Given the description of an element on the screen output the (x, y) to click on. 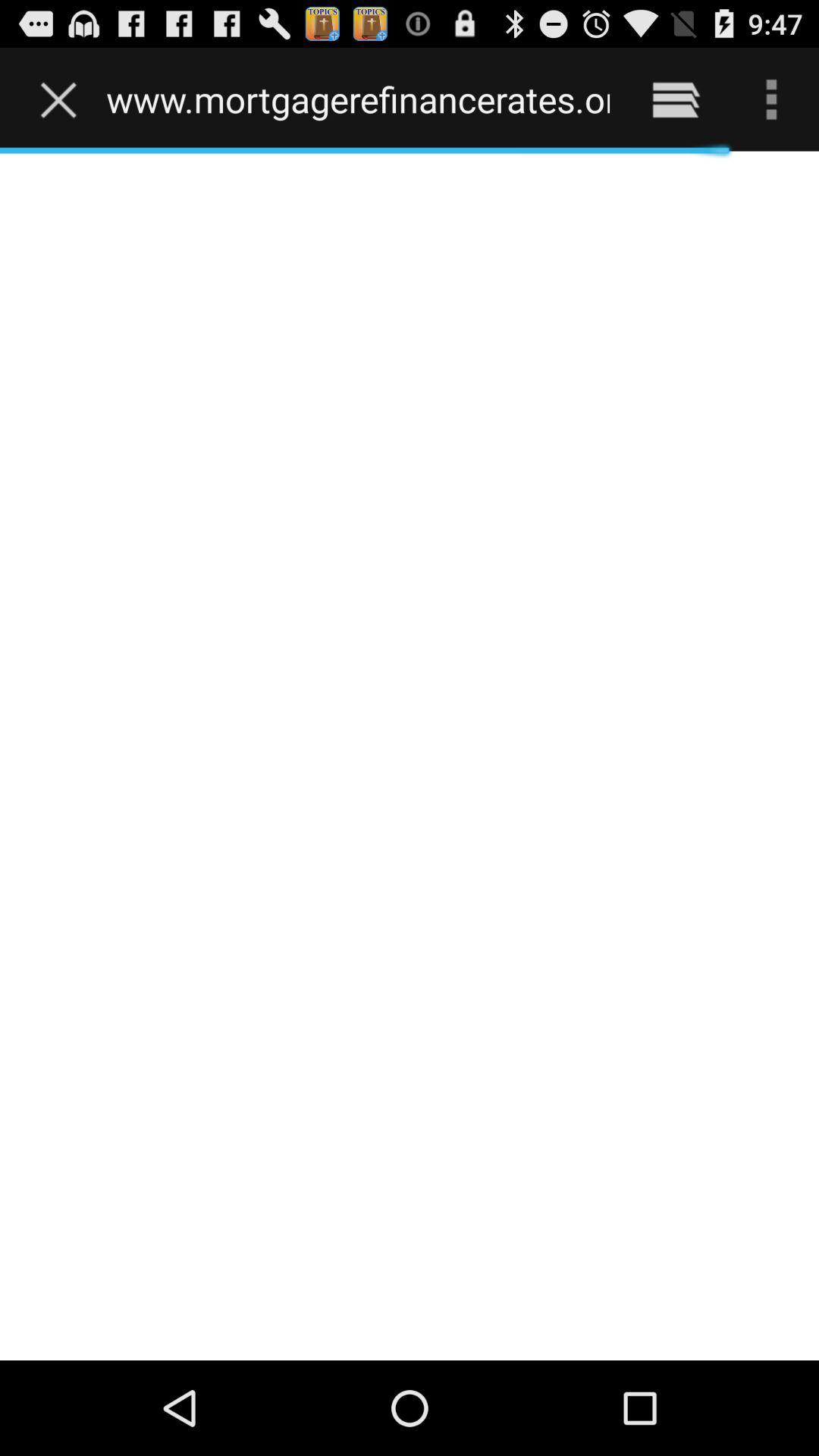
tap the icon below www mortgagerefinancerates org item (409, 755)
